Given the description of an element on the screen output the (x, y) to click on. 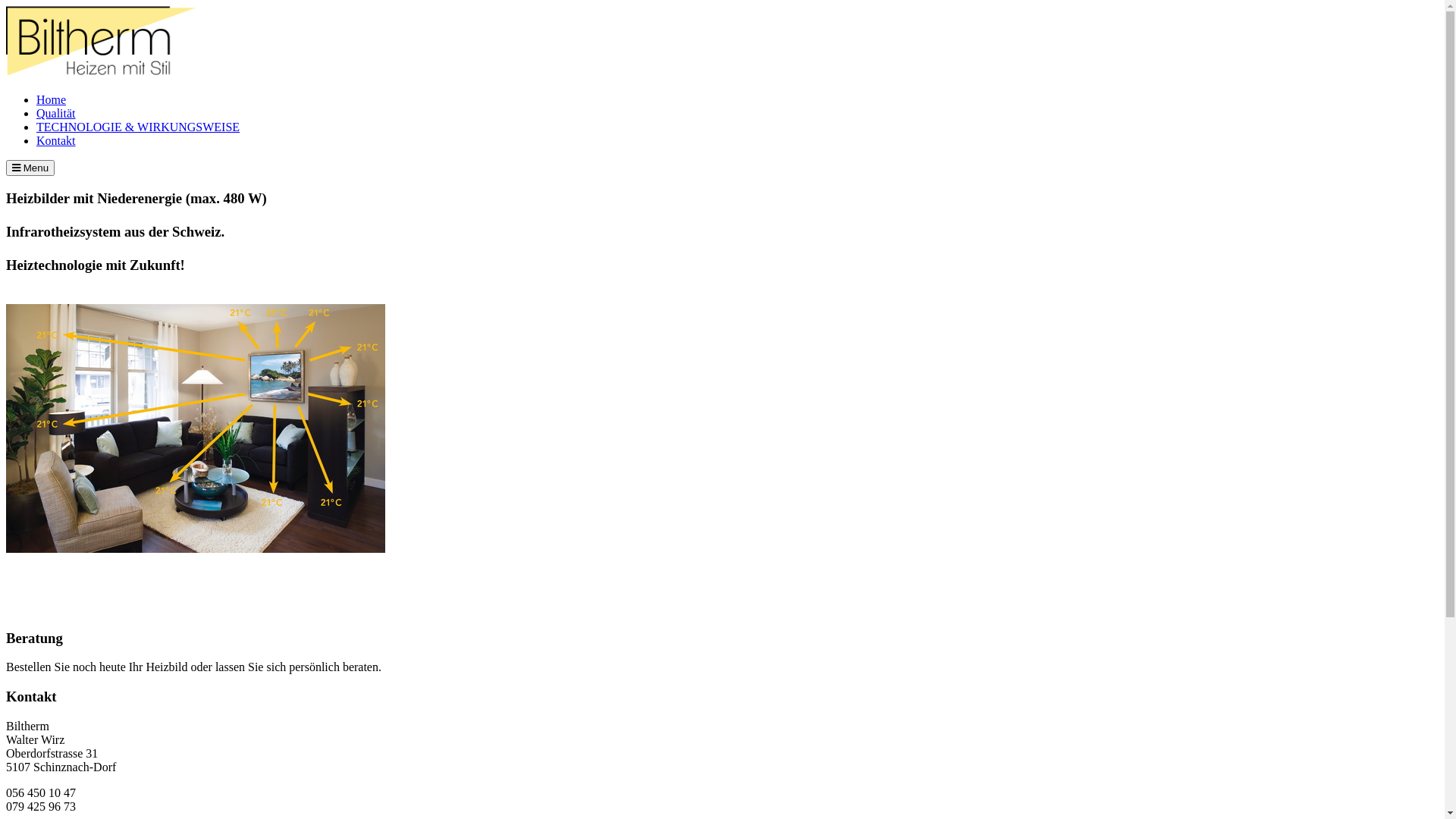
Kontakt Element type: text (55, 140)
biltherm Element type: hover (100, 73)
Home Element type: text (50, 99)
TECHNOLOGIE & WIRKUNGSWEISE Element type: text (137, 126)
Menu Element type: text (30, 167)
